Given the description of an element on the screen output the (x, y) to click on. 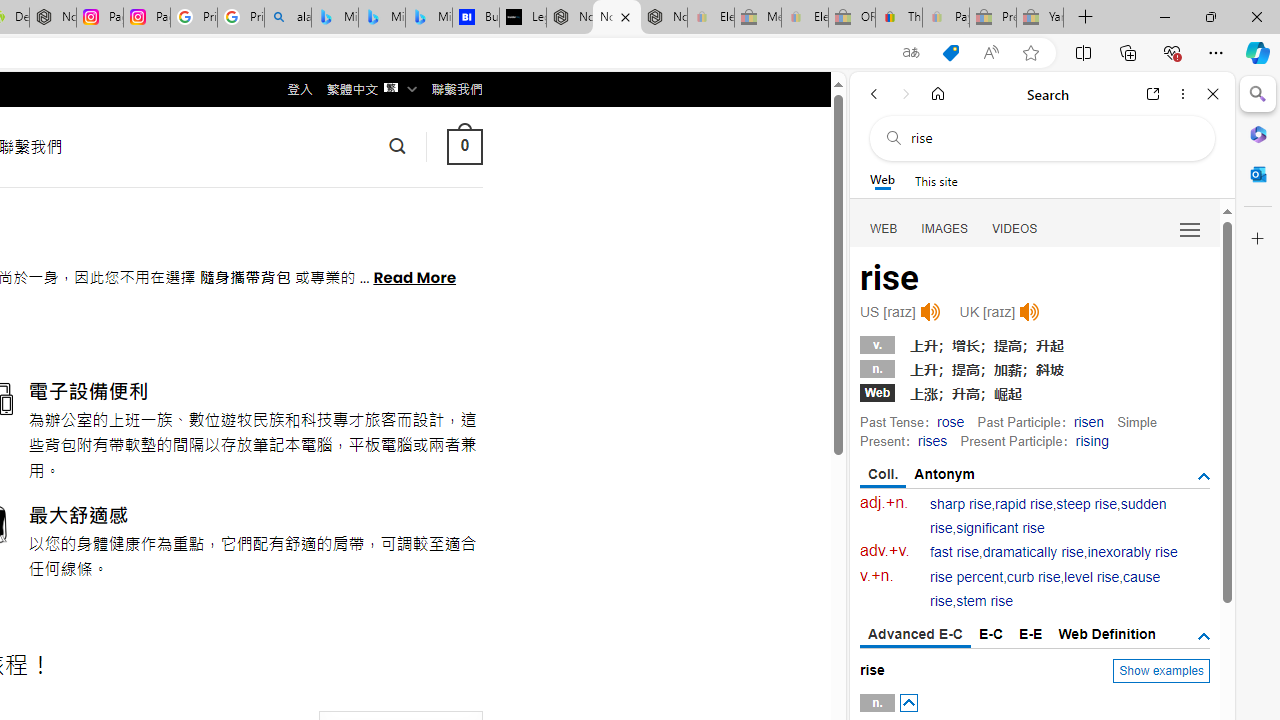
cause rise (1045, 589)
VIDEOS (1015, 228)
Microsoft Bing Travel - Flights from Hong Kong to Bangkok (335, 17)
Microsoft Bing Travel - Shangri-La Hotel Bangkok (428, 17)
curb rise (1033, 577)
Advanced E-C (915, 635)
E-E (1030, 633)
Read More (414, 276)
